Given the description of an element on the screen output the (x, y) to click on. 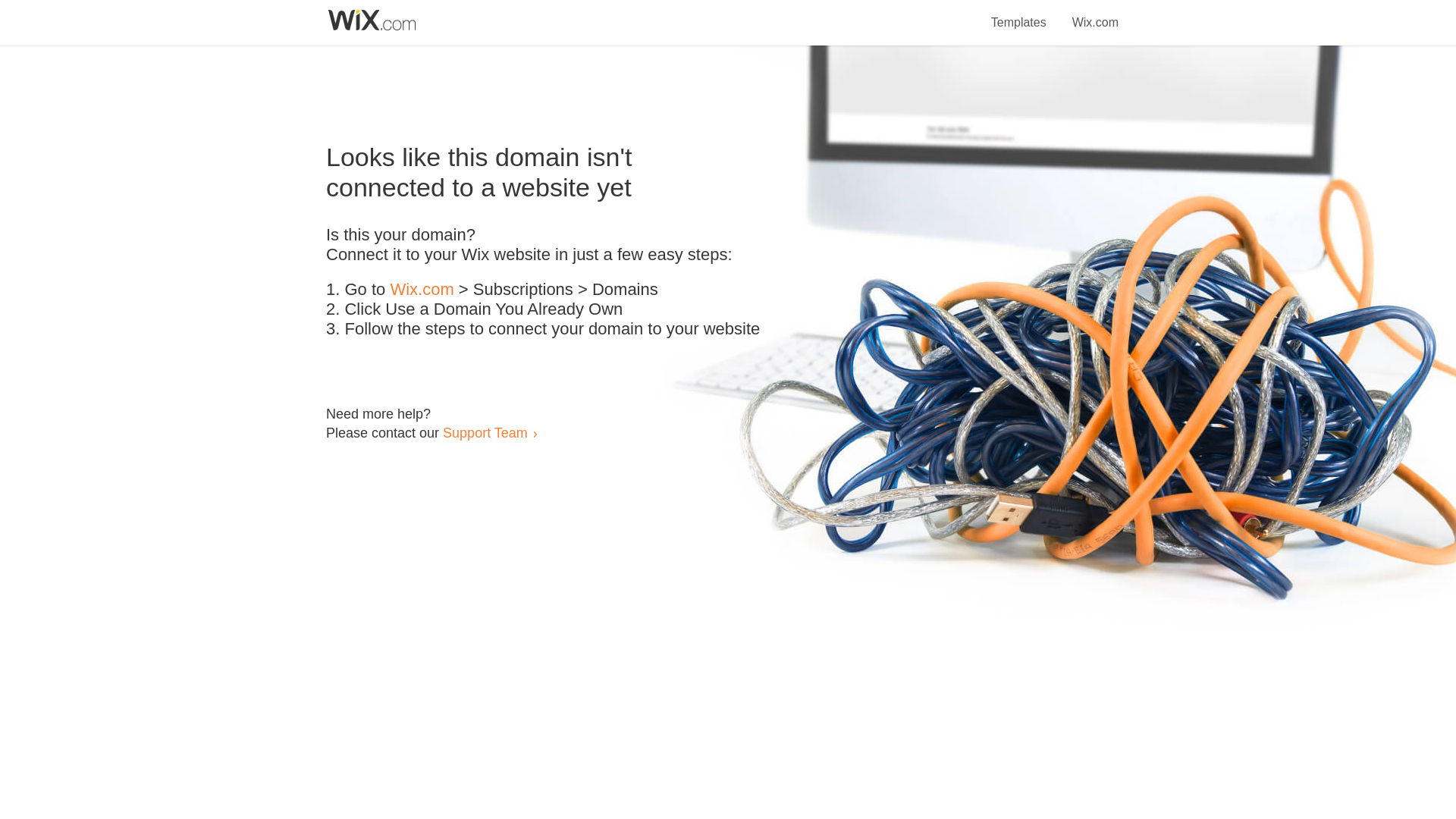
Support Team (484, 432)
Templates (1018, 14)
Wix.com (1095, 14)
Wix.com (421, 289)
